Given the description of an element on the screen output the (x, y) to click on. 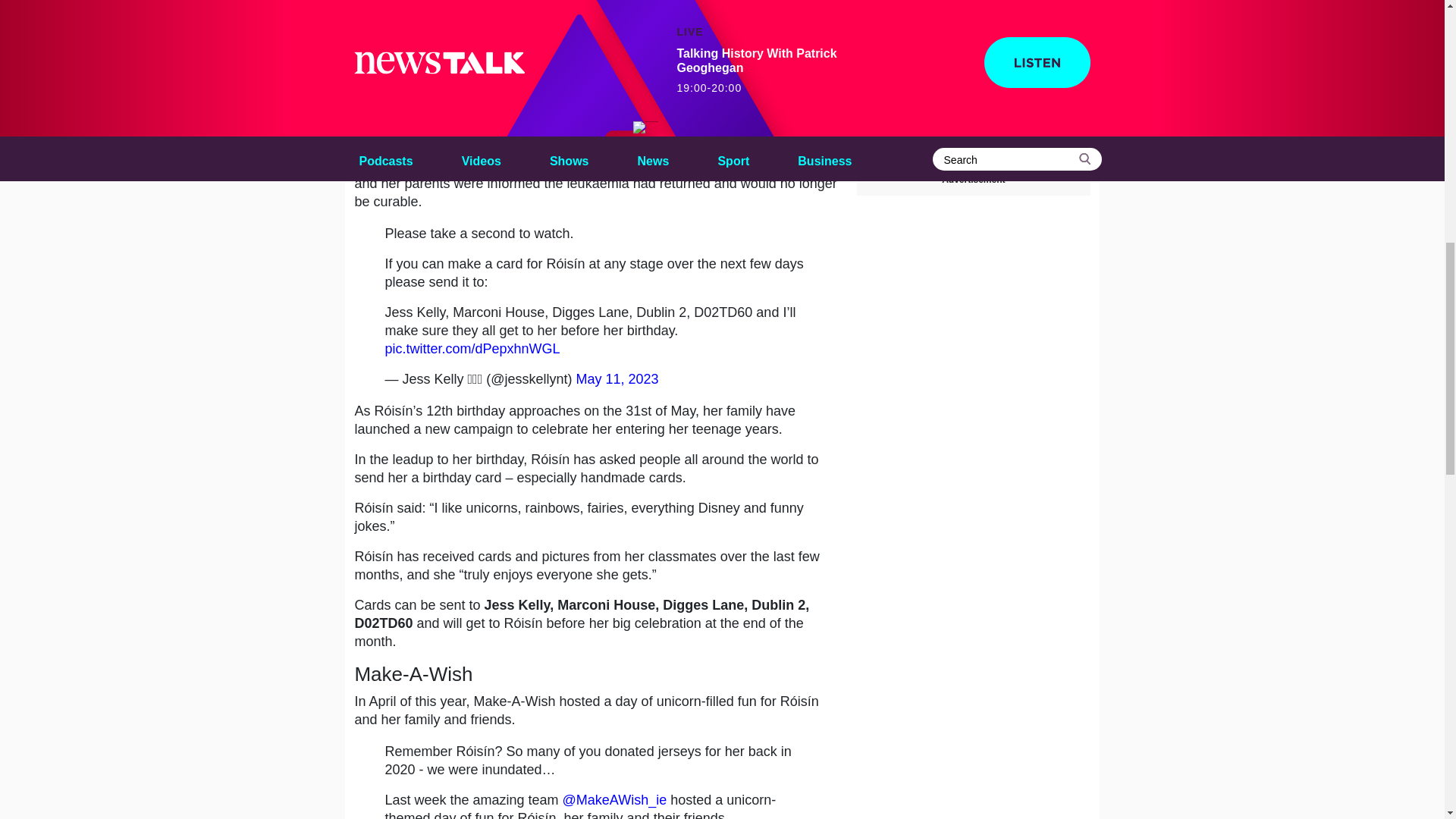
received every country jersey (566, 98)
May 11, 2023 (617, 378)
after being in remission for 18 months (538, 165)
Jess Kelly put out the call on social media (581, 89)
